Given the description of an element on the screen output the (x, y) to click on. 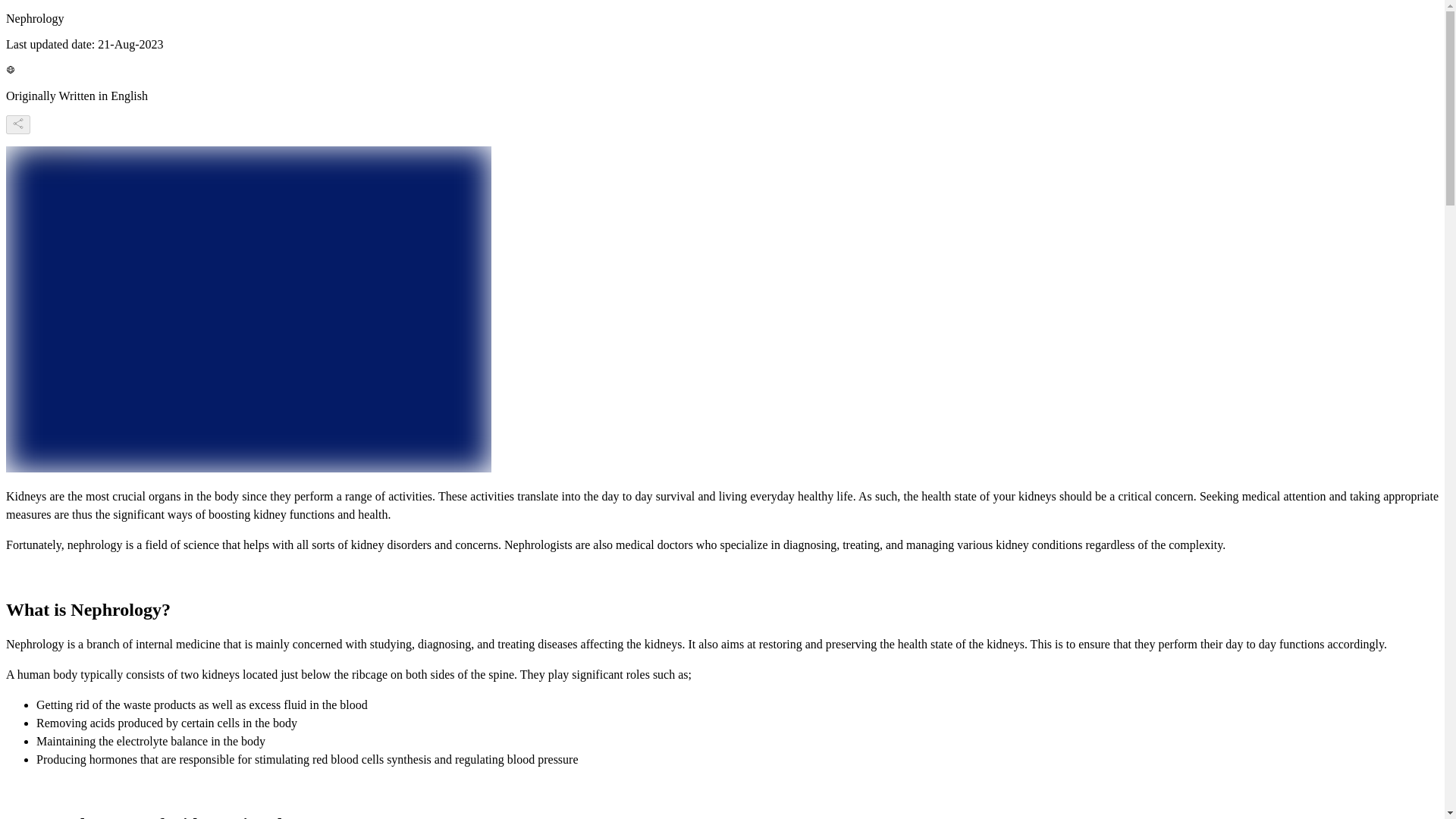
share-article-button (17, 124)
